Given the description of an element on the screen output the (x, y) to click on. 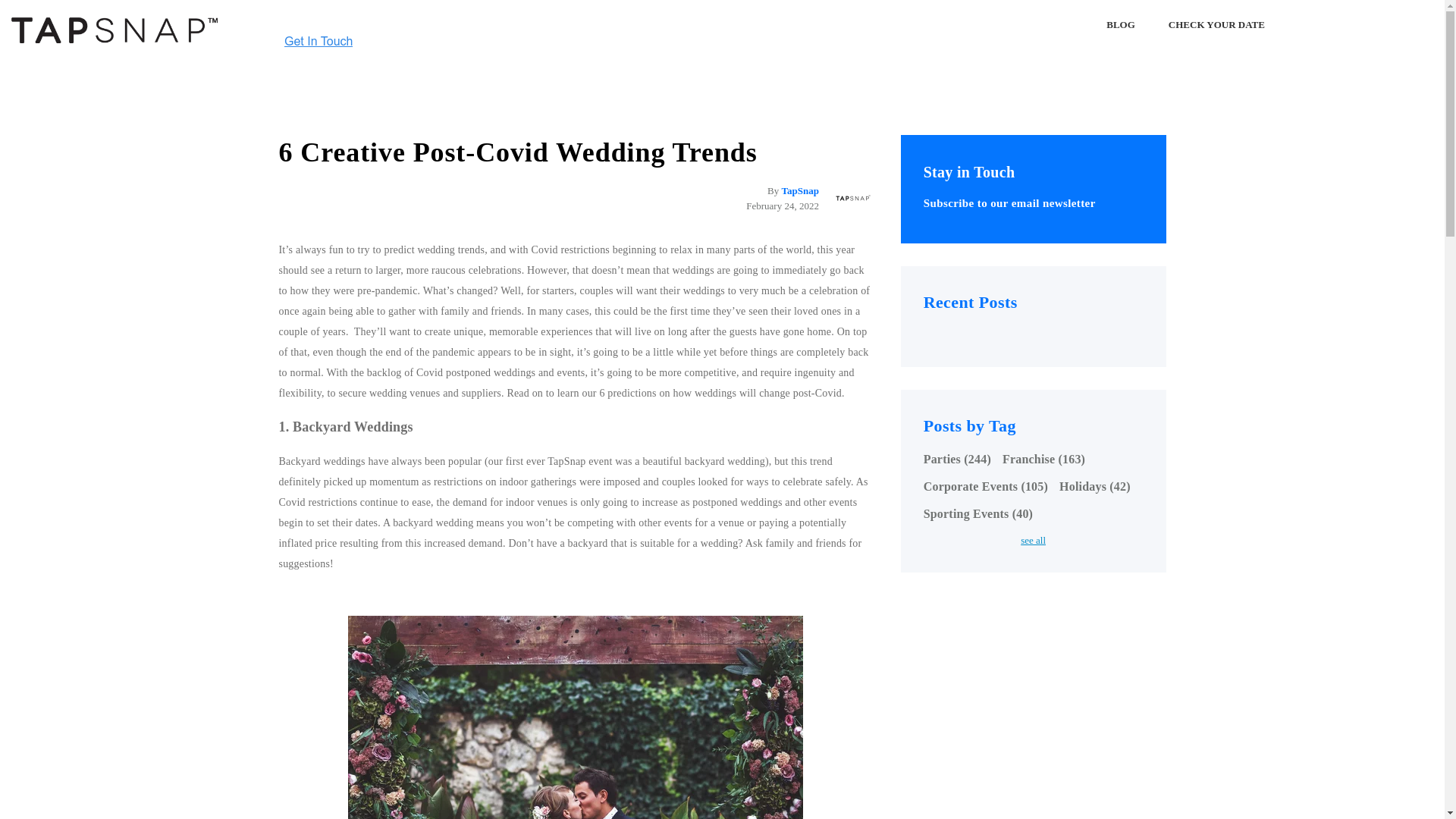
BLOG (1120, 25)
TapSnap (799, 190)
TapSnap Photo Booth Blog (113, 29)
CHECK YOUR DATE (1216, 25)
